Given the description of an element on the screen output the (x, y) to click on. 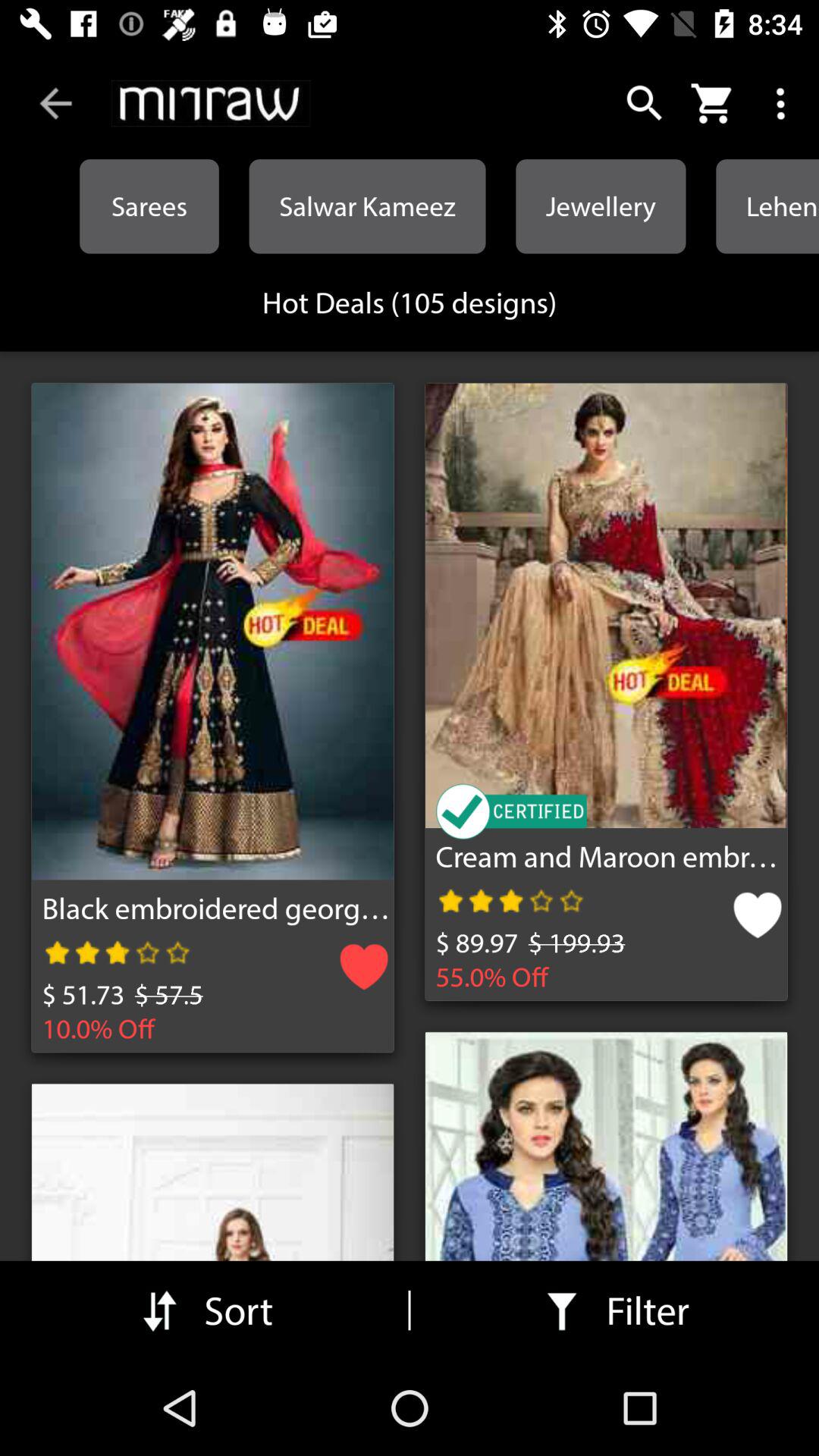
select item above the sarees (55, 103)
